Given the description of an element on the screen output the (x, y) to click on. 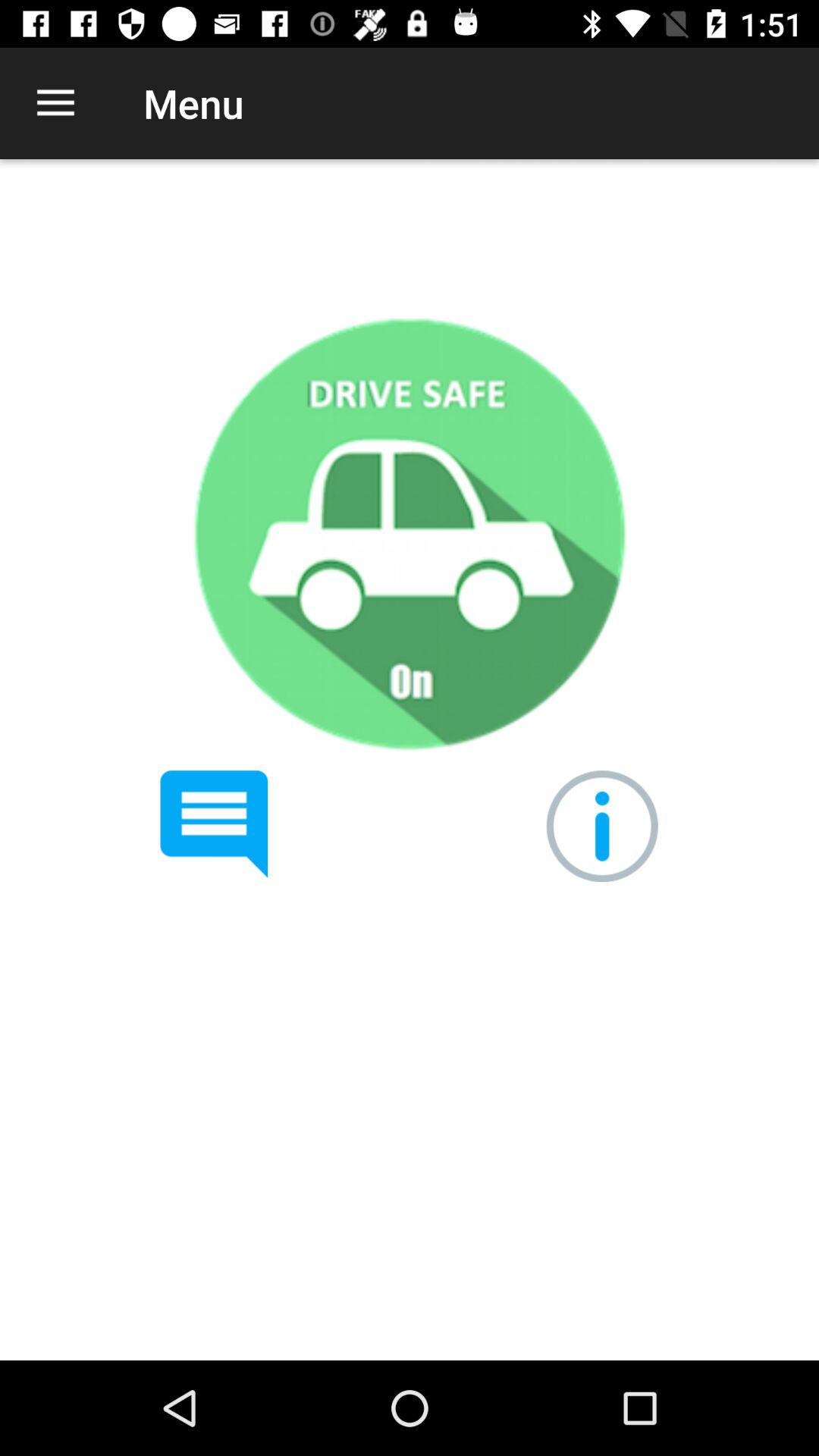
toggle message (213, 824)
